Given the description of an element on the screen output the (x, y) to click on. 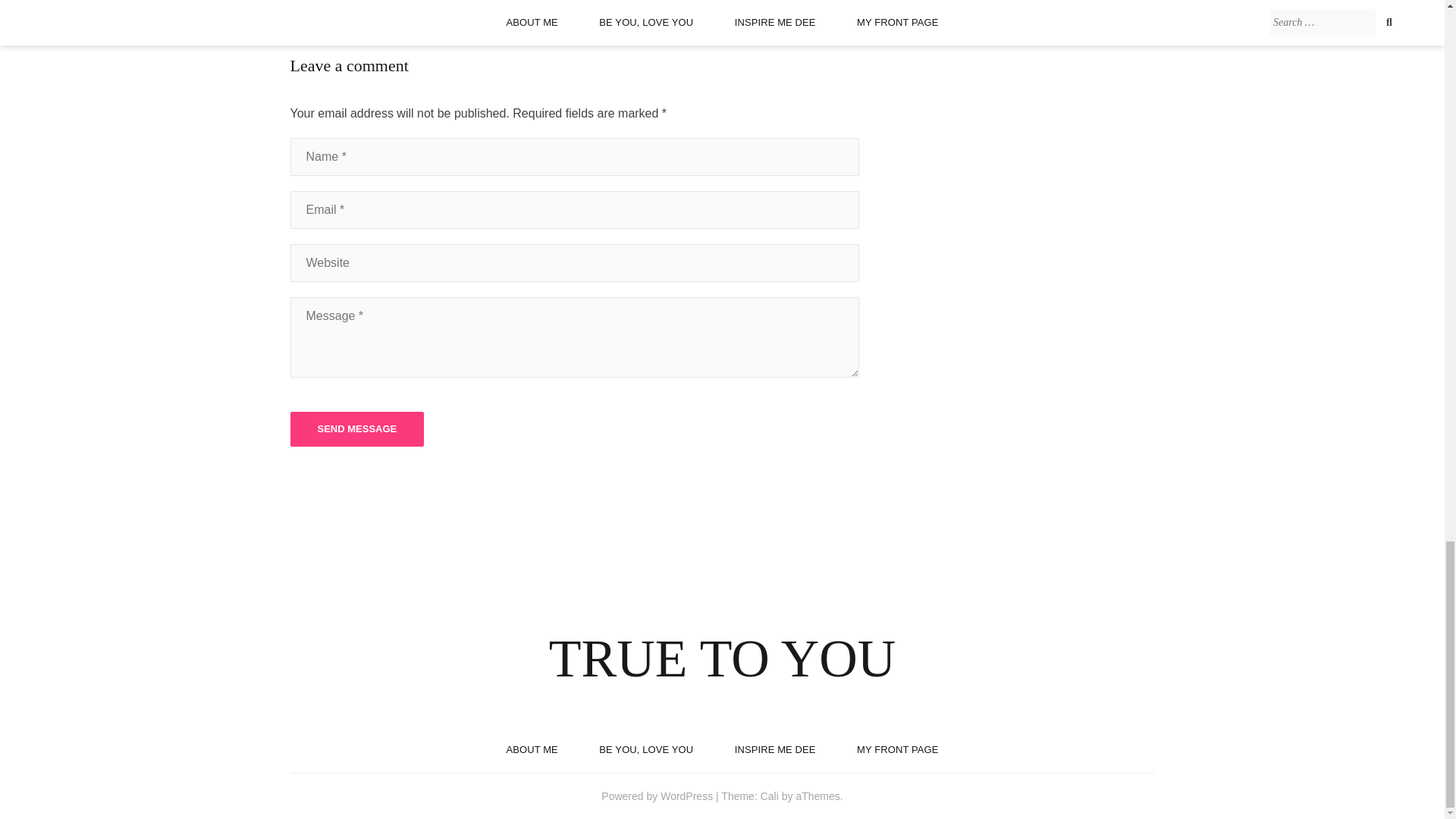
MY FRONT PAGE (897, 749)
ABOUT ME (531, 749)
BE YOU, LOVE YOU (645, 749)
Send Message (356, 428)
TRUE TO YOU (722, 658)
Send Message (356, 428)
INSPIRE ME DEE (775, 749)
